Given the description of an element on the screen output the (x, y) to click on. 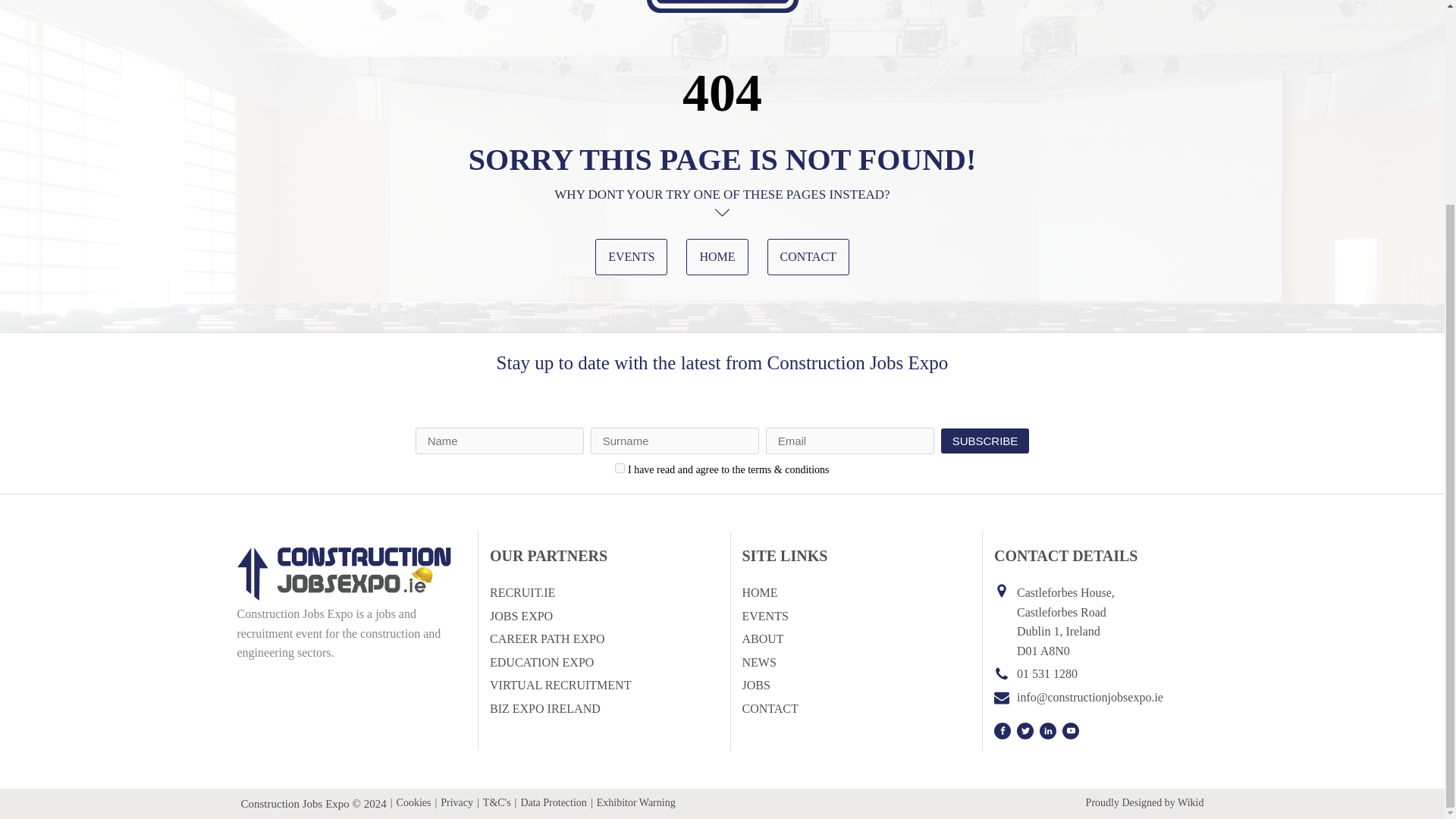
JOBS EXPO (521, 616)
NEWS (758, 662)
1 (619, 468)
Subscribe (984, 440)
CONTACT (769, 709)
EVENTS (630, 257)
EVENTS (764, 616)
EDUCATION EXPO (541, 662)
CAREER PATH EXPO (546, 639)
RECRUIT.IE (521, 592)
Subscribe (984, 440)
HOME (716, 257)
JOBS (755, 685)
BIZ EXPO IRELAND (544, 709)
CONTACT (807, 257)
